Given the description of an element on the screen output the (x, y) to click on. 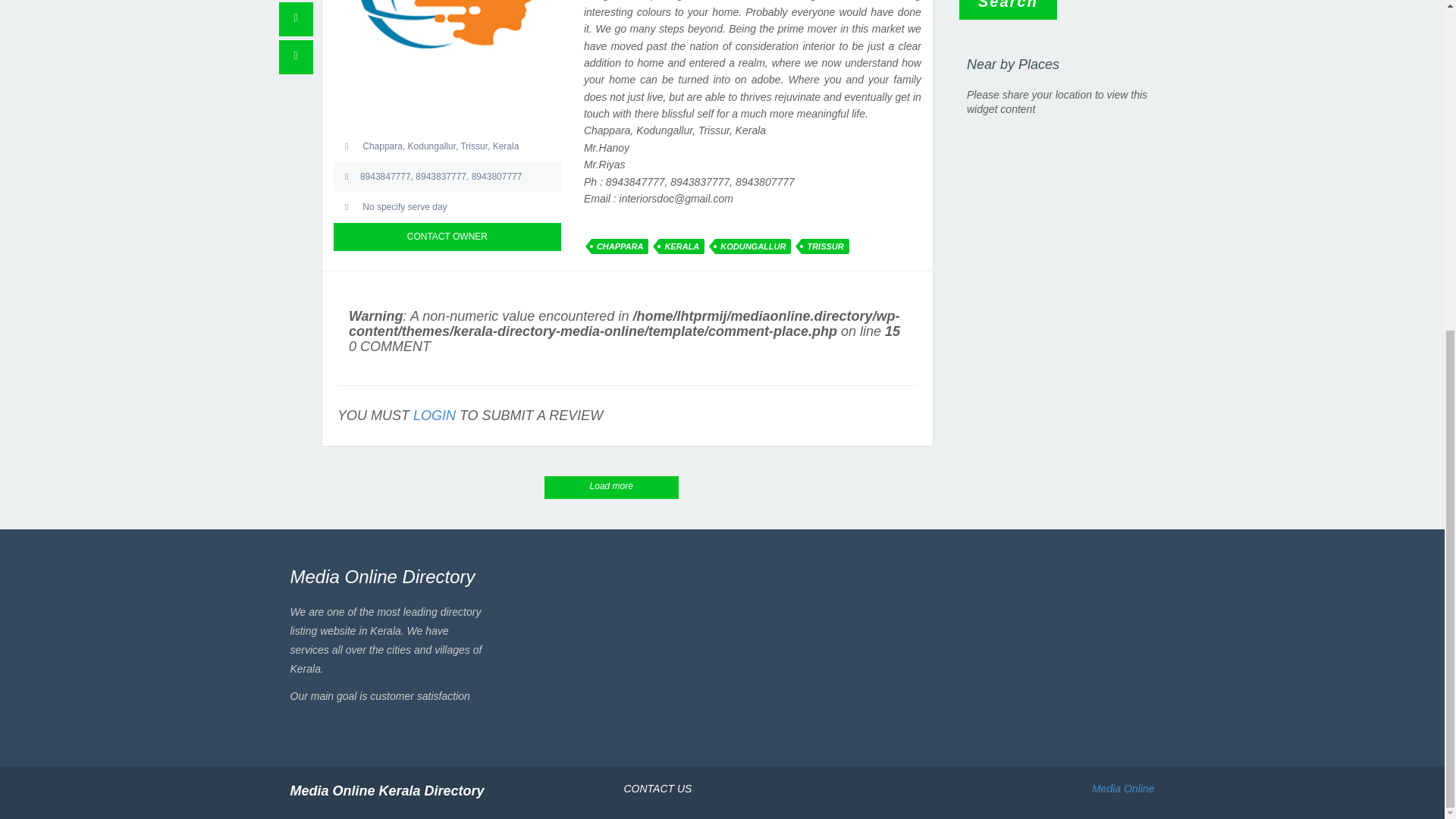
Open days (446, 206)
Load more (611, 486)
LOGIN (434, 415)
TRISSUR (825, 246)
Media Online Kerala Directory (386, 790)
KERALA (681, 246)
CONTACT OWNER (446, 236)
Search (1008, 9)
Report (296, 19)
Contact owner (296, 57)
CHAPPARA (620, 246)
KODUNGALLUR (752, 246)
